Given the description of an element on the screen output the (x, y) to click on. 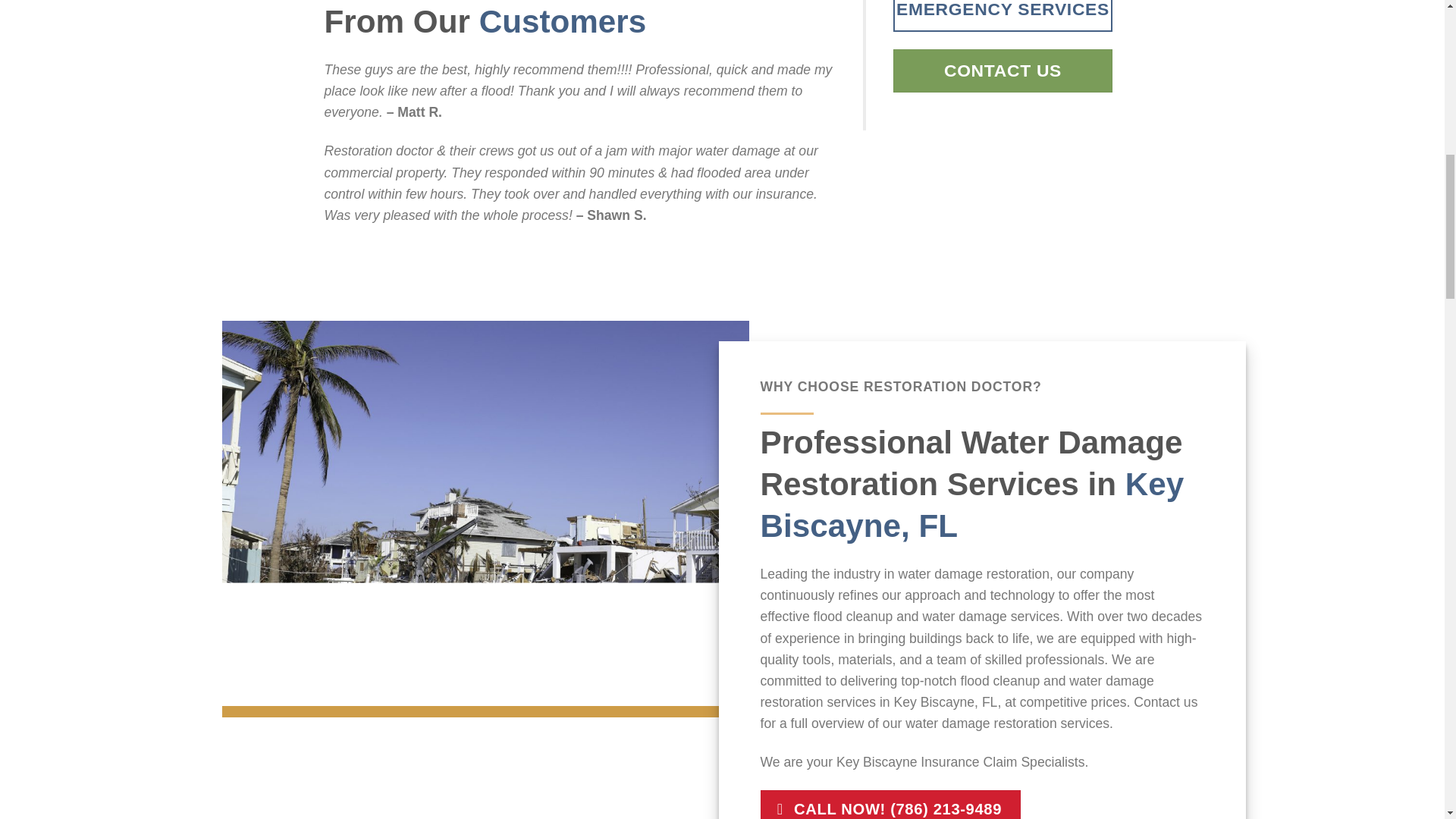
CONTACT US (1003, 70)
EMERGENCY SERVICES (1003, 15)
